Given the description of an element on the screen output the (x, y) to click on. 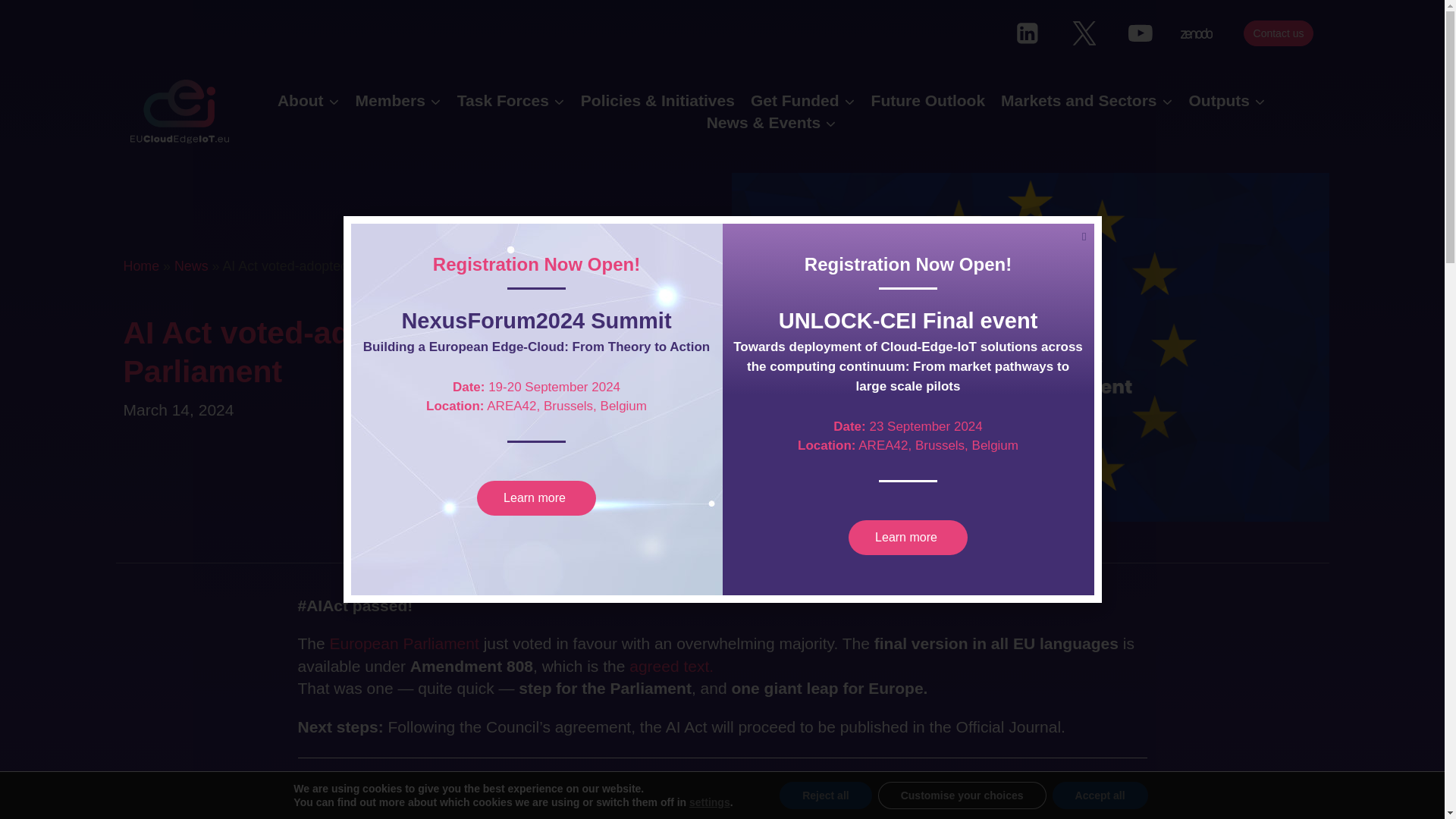
Task Forces (510, 100)
Get Funded (802, 100)
Contact us (1278, 32)
Markets and Sectors (1086, 100)
Members (397, 100)
About (308, 100)
Future Outlook (927, 100)
